Given the description of an element on the screen output the (x, y) to click on. 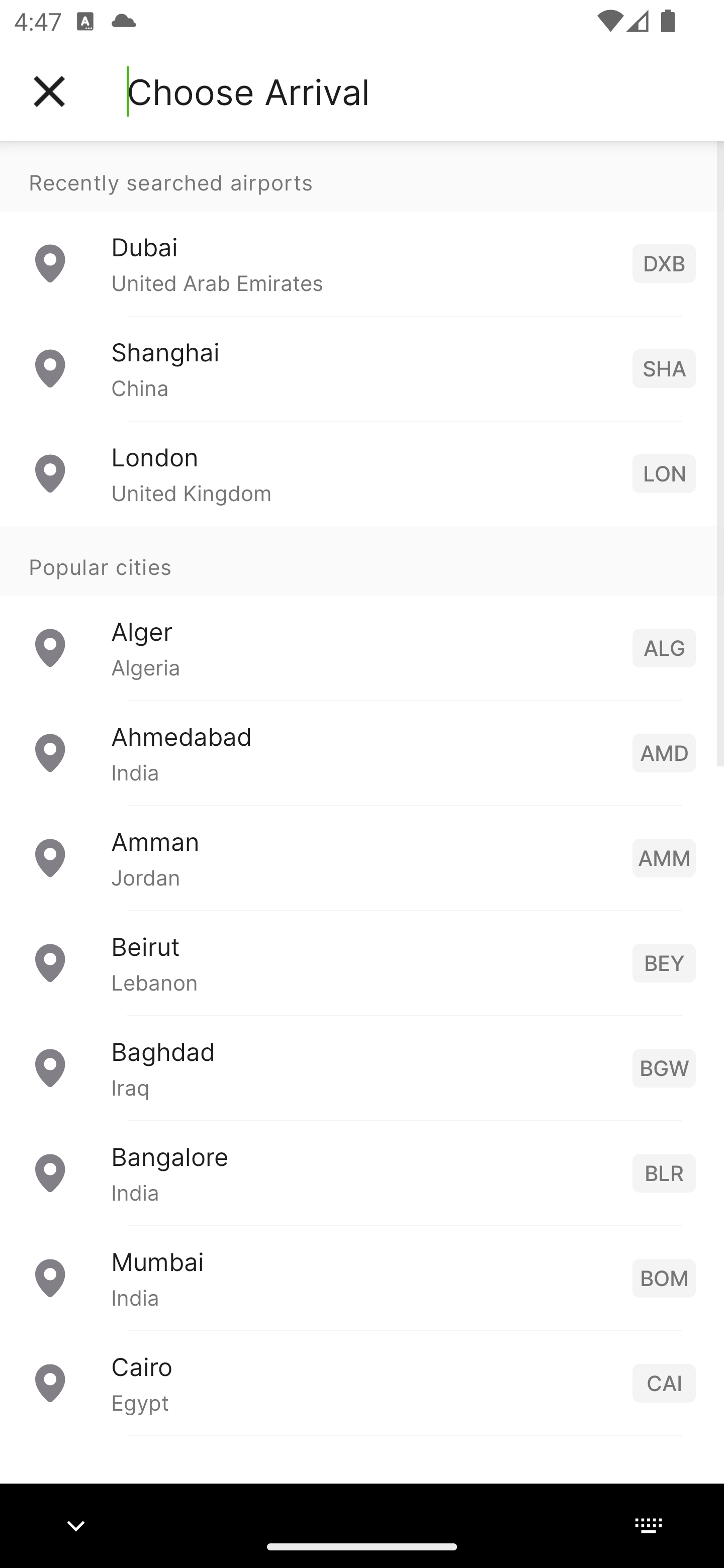
Choose Arrival (247, 91)
Recently searched airports (362, 176)
Shanghai China SHA (362, 367)
London United Kingdom LON (362, 472)
Popular cities Alger Algeria ALG (362, 612)
Popular cities (362, 560)
Ahmedabad India AMD (362, 751)
Amman Jordan AMM (362, 856)
Beirut Lebanon BEY (362, 961)
Baghdad Iraq BGW (362, 1066)
Bangalore India BLR (362, 1171)
Mumbai India BOM (362, 1276)
Cairo Egypt CAI (362, 1381)
